Given the description of an element on the screen output the (x, y) to click on. 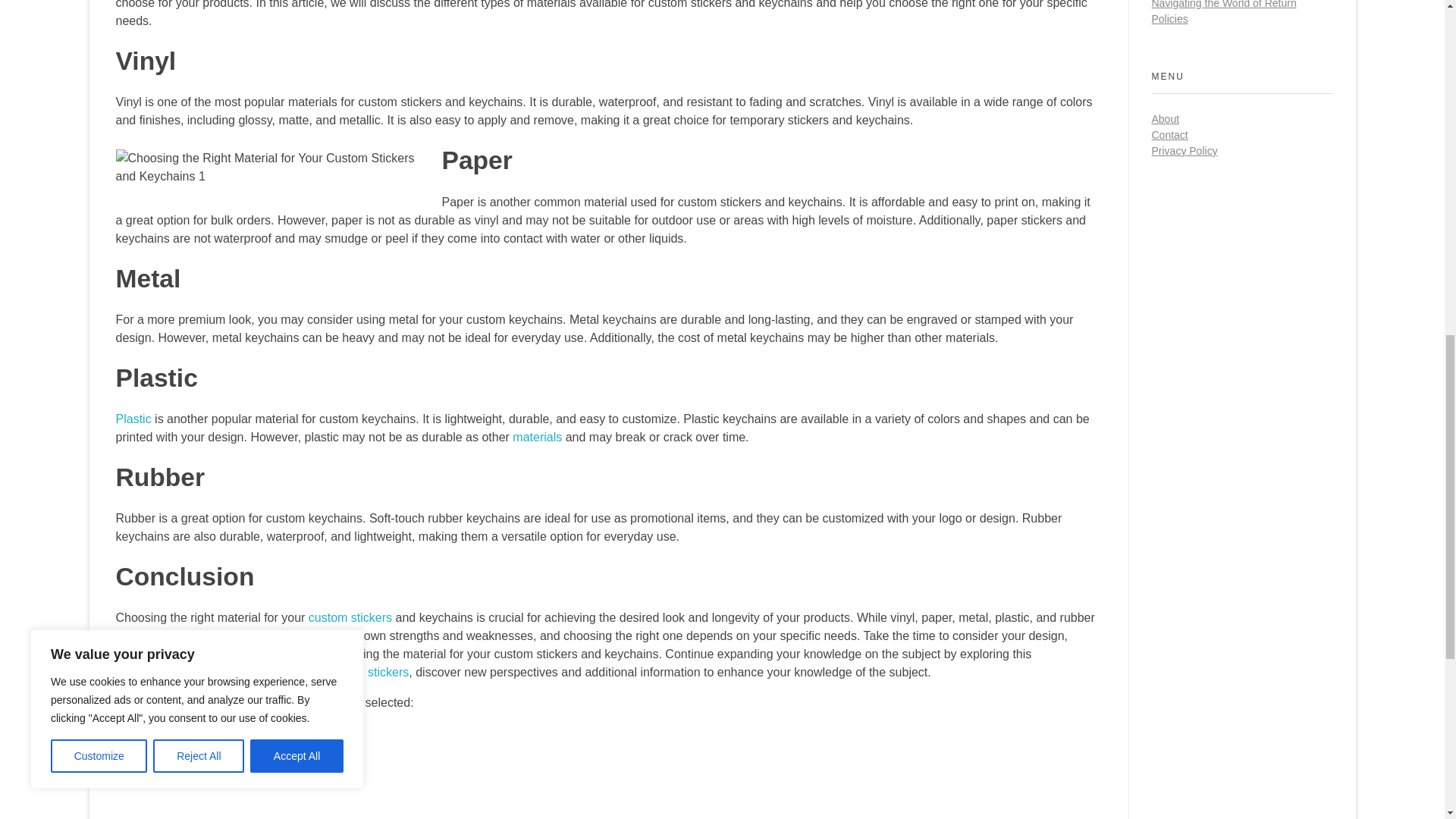
Plastic (133, 418)
Investigate this in-depth content (206, 762)
Access this informative content (198, 732)
custom stickers (349, 617)
materials (537, 436)
Customized stickers (354, 671)
